Given the description of an element on the screen output the (x, y) to click on. 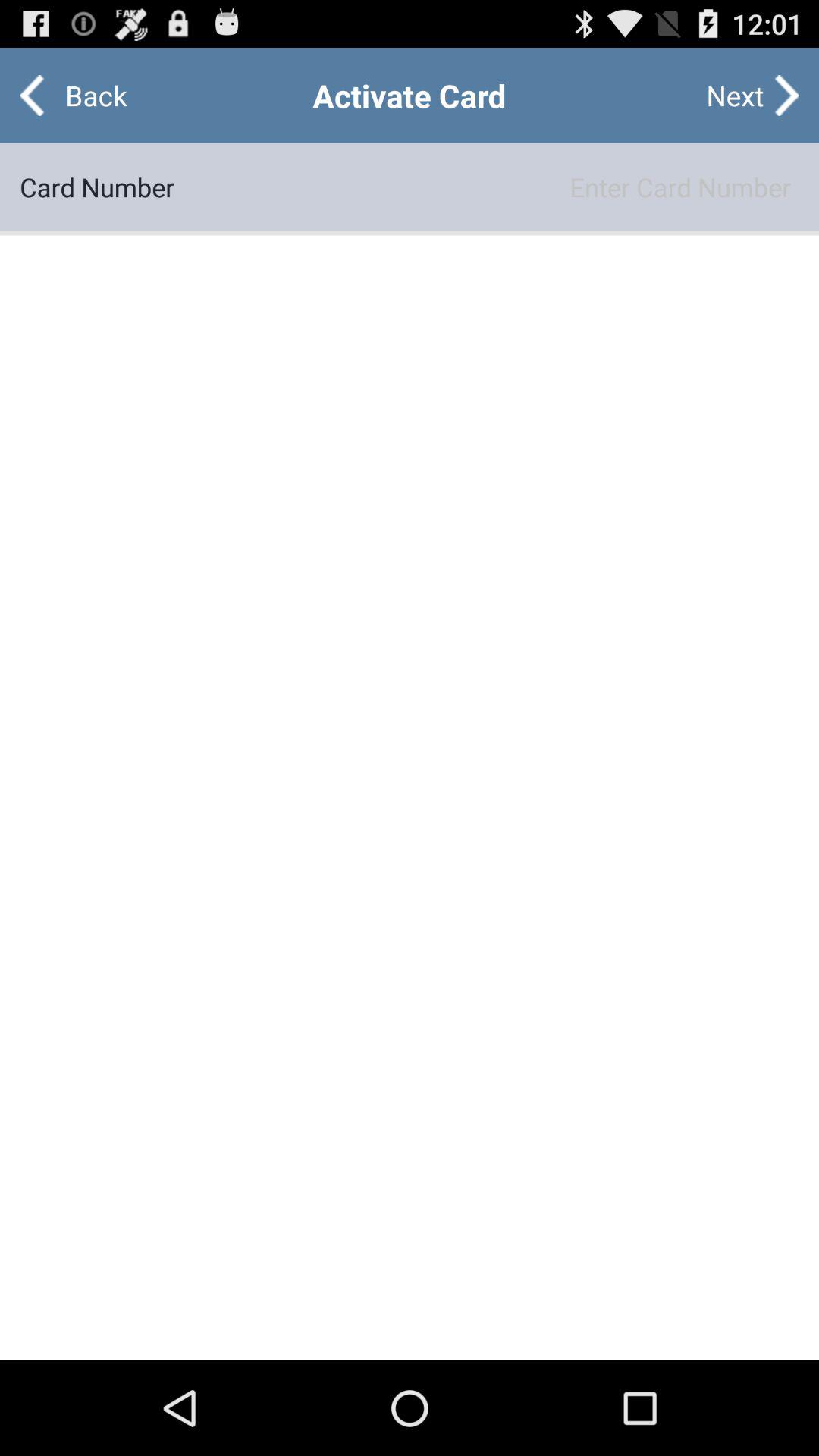
scroll until back button (83, 95)
